Given the description of an element on the screen output the (x, y) to click on. 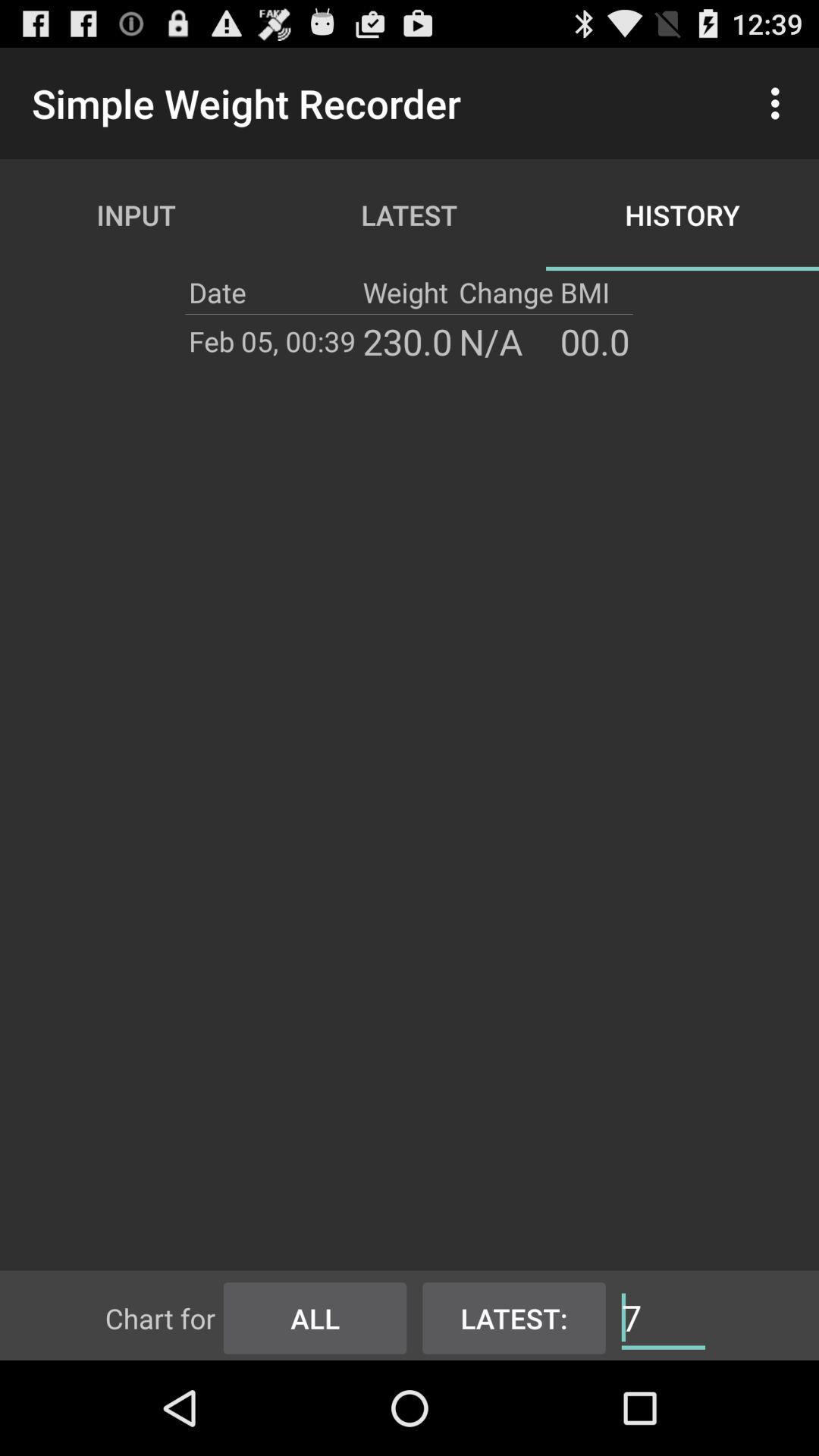
select the field which says 7 (663, 1315)
select the text all (314, 1315)
